Given the description of an element on the screen output the (x, y) to click on. 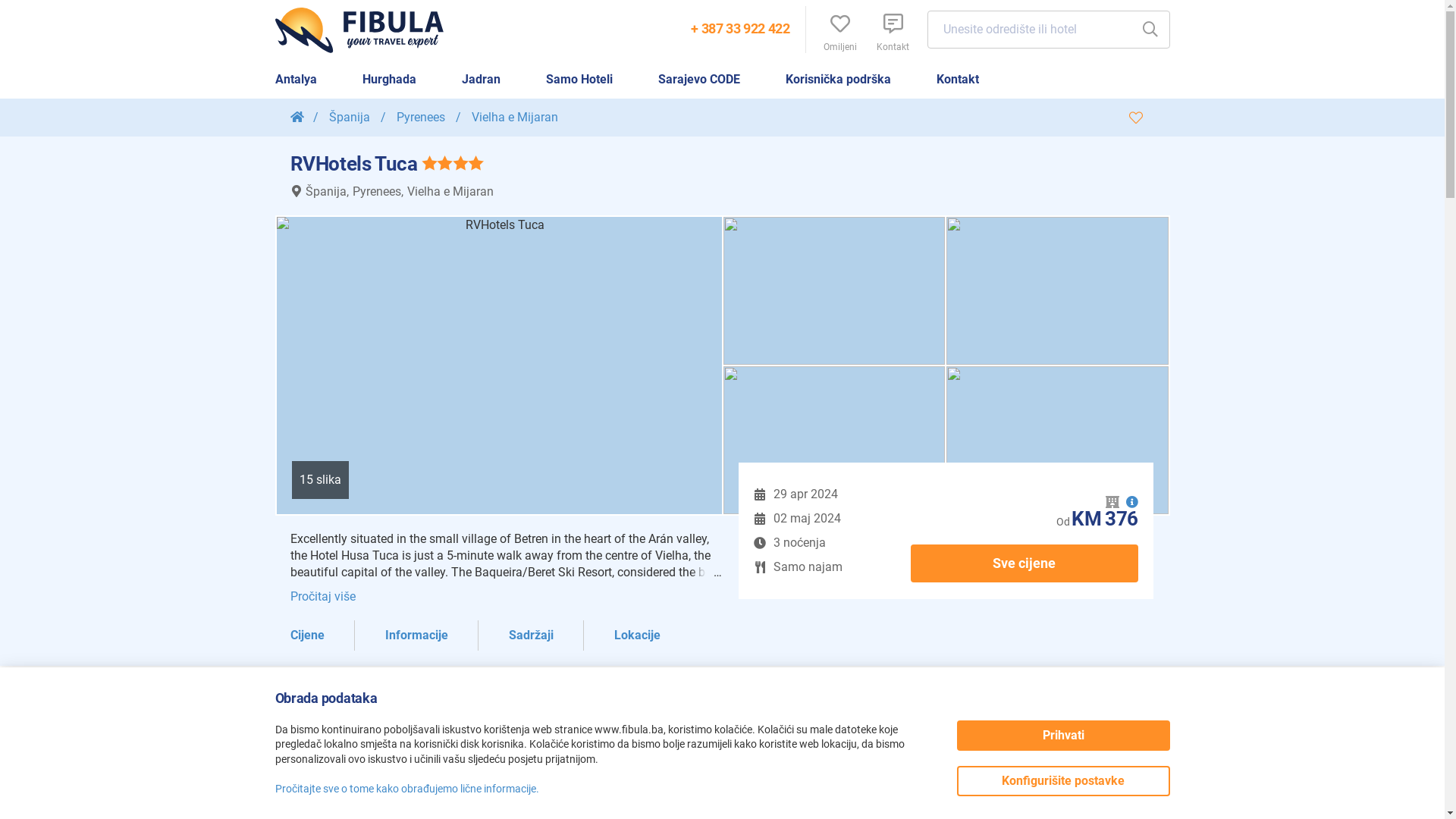
Kontakt Element type: hover (892, 29)
Pyrenees Element type: text (421, 116)
Hurghada Element type: text (389, 79)
Fibula Element type: hover (365, 30)
Omiljeni Element type: hover (839, 29)
Detaljne informacije o sastavu cijene Element type: hover (1131, 501)
Check-in Element type: hover (759, 494)
Dodaj u omiljene Element type: hover (1135, 117)
Check-out Element type: hover (759, 518)
tip obroka Element type: hover (759, 567)
Lokacije Element type: text (637, 635)
Samo Hoteli Element type: text (579, 79)
Cijene Element type: text (306, 635)
Vielha e Mijaran Element type: text (514, 116)
Informacije Element type: text (416, 635)
Antalya Element type: text (295, 79)
+ 387 33 922 422 Element type: text (739, 29)
Sarajevo CODE Element type: text (699, 79)
Jadran Element type: text (480, 79)
Kontakt Element type: text (956, 79)
Trajanje putovanja Element type: hover (759, 542)
